Given the description of an element on the screen output the (x, y) to click on. 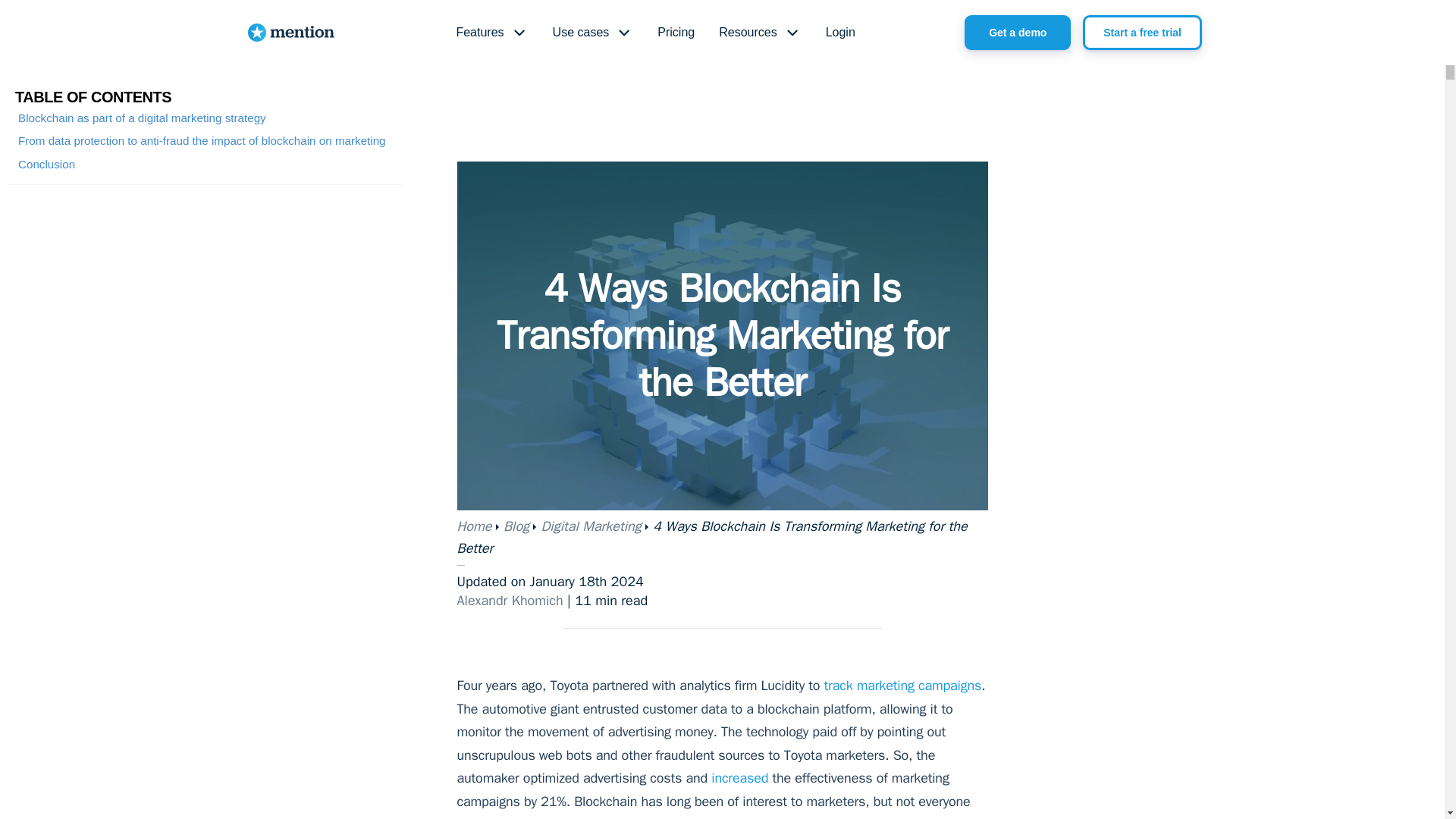
Conclusion (46, 164)
Blockchain as part of a digital marketing strategy (141, 117)
Pricing (675, 33)
